Given the description of an element on the screen output the (x, y) to click on. 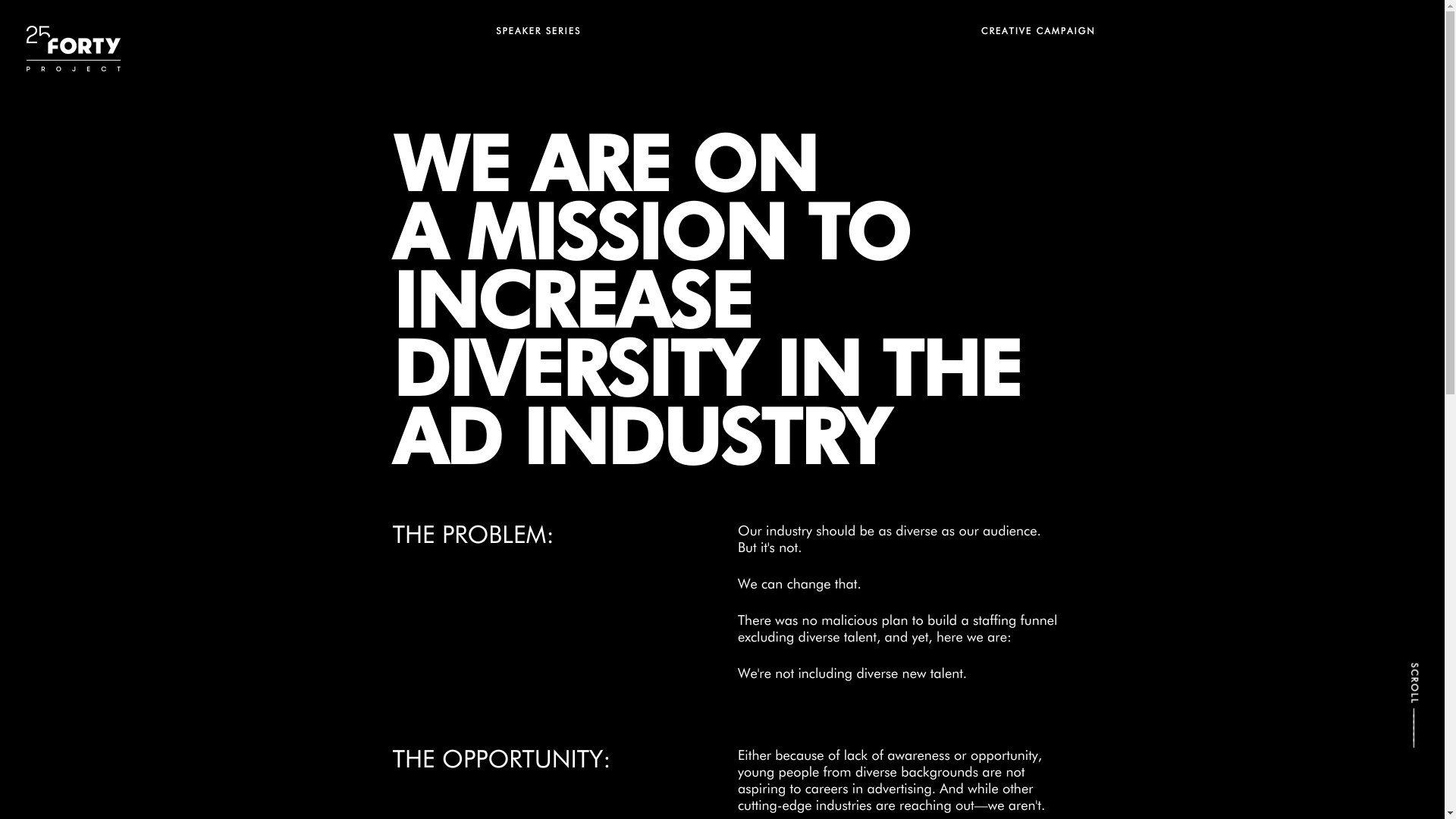
CREATIVE
CAMPAIGN Element type: text (1211, 36)
SPEAKER
SERIES Element type: text (726, 36)
